Given the description of an element on the screen output the (x, y) to click on. 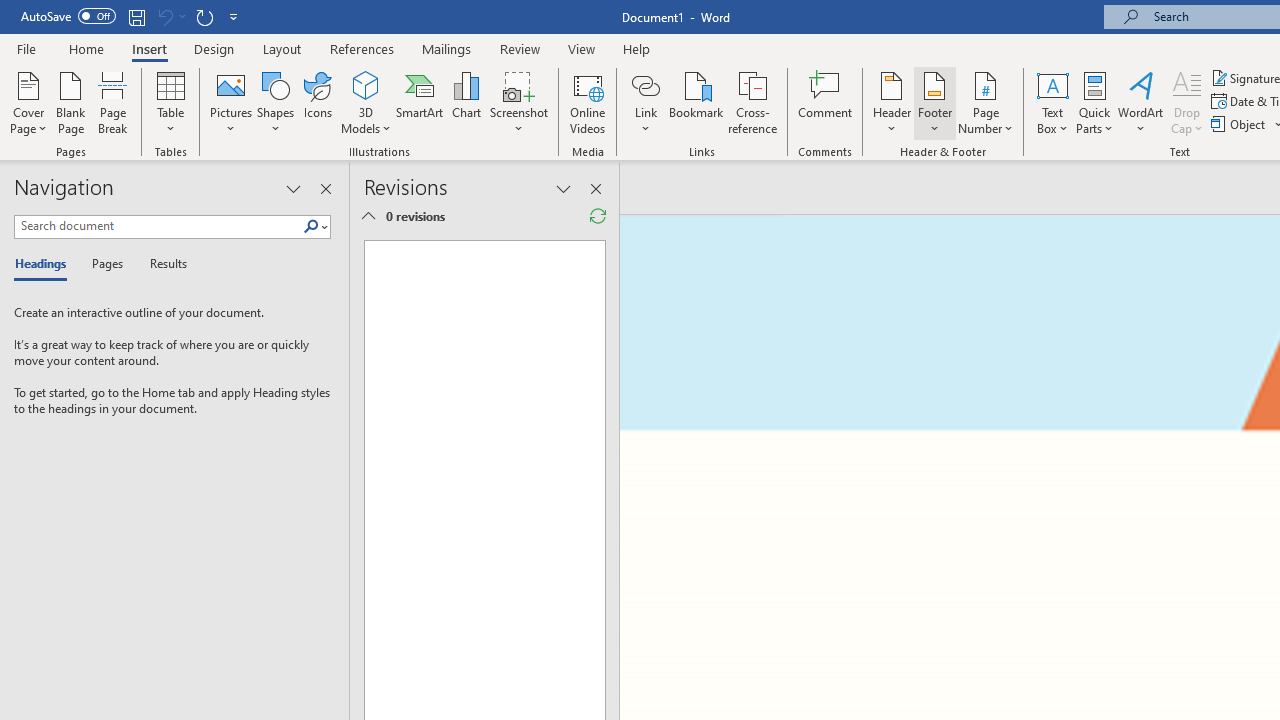
WordArt (1141, 102)
Drop Cap (1187, 102)
Chart... (466, 102)
Pictures (230, 102)
Show Detailed Summary (368, 215)
